Given the description of an element on the screen output the (x, y) to click on. 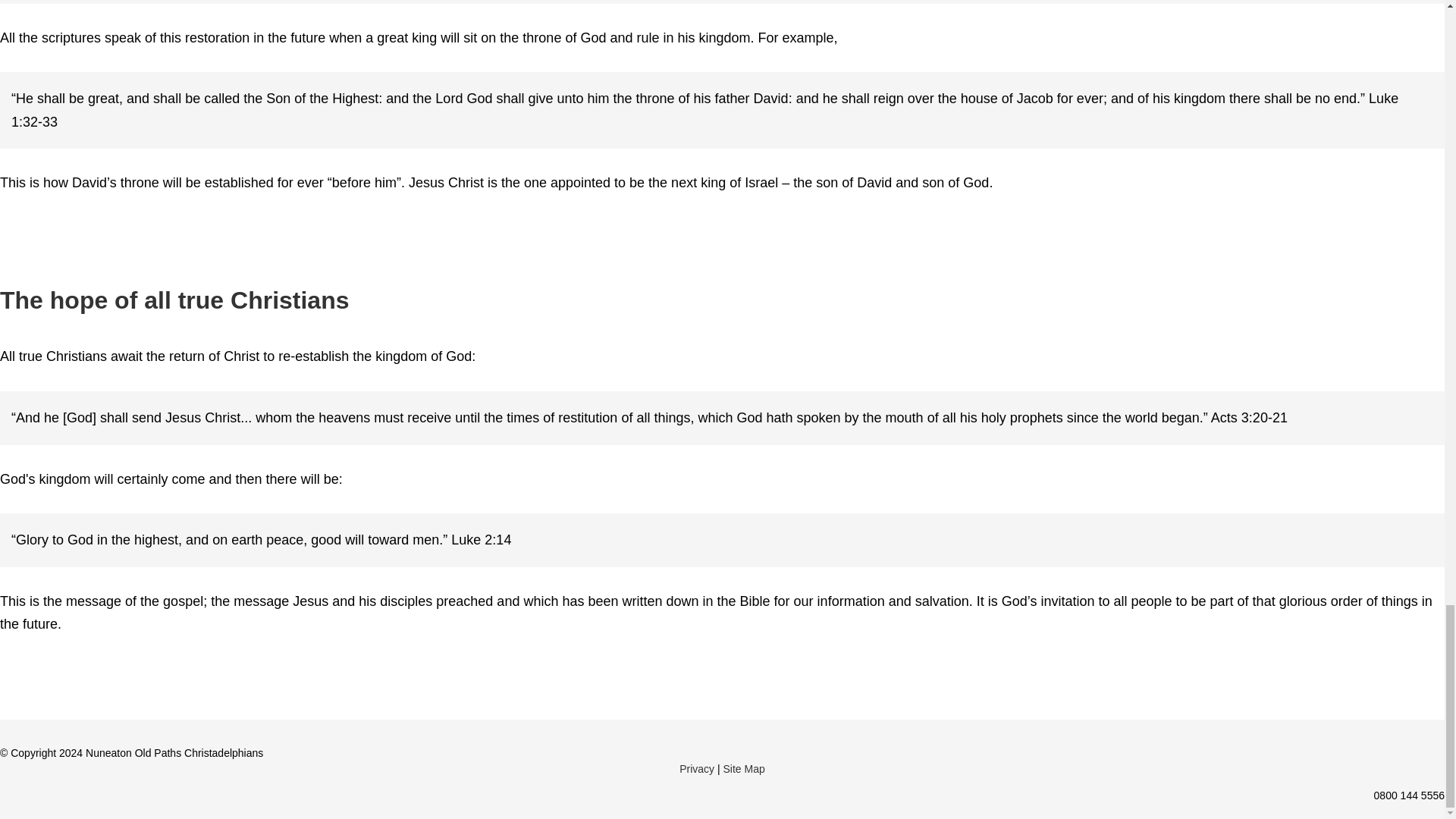
Privacy (696, 769)
Site Map (744, 769)
